Given the description of an element on the screen output the (x, y) to click on. 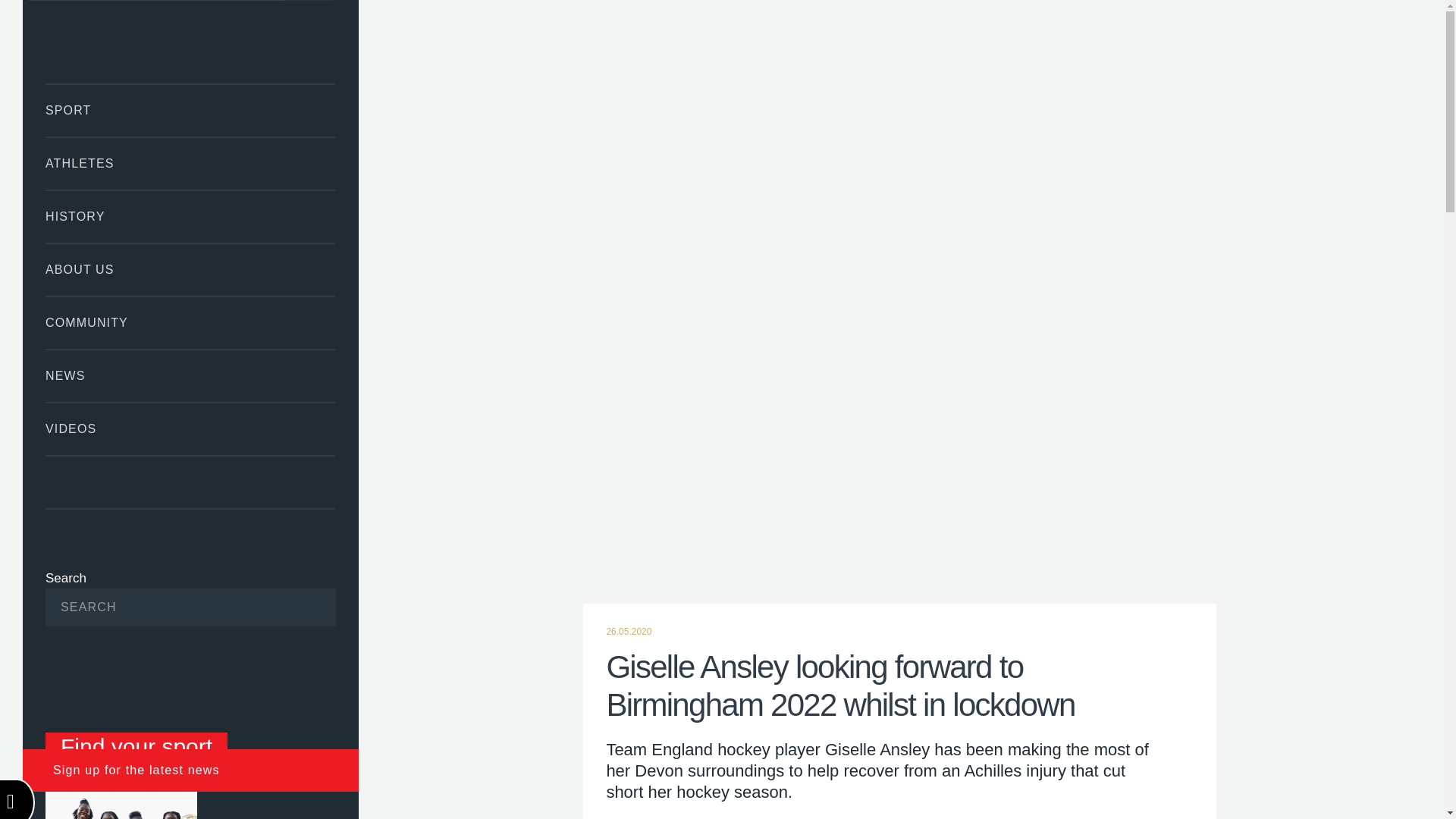
Commonwealth Games England (190, 41)
SPORT (190, 110)
Subscribe (301, 607)
Subscribe (301, 607)
